Given the description of an element on the screen output the (x, y) to click on. 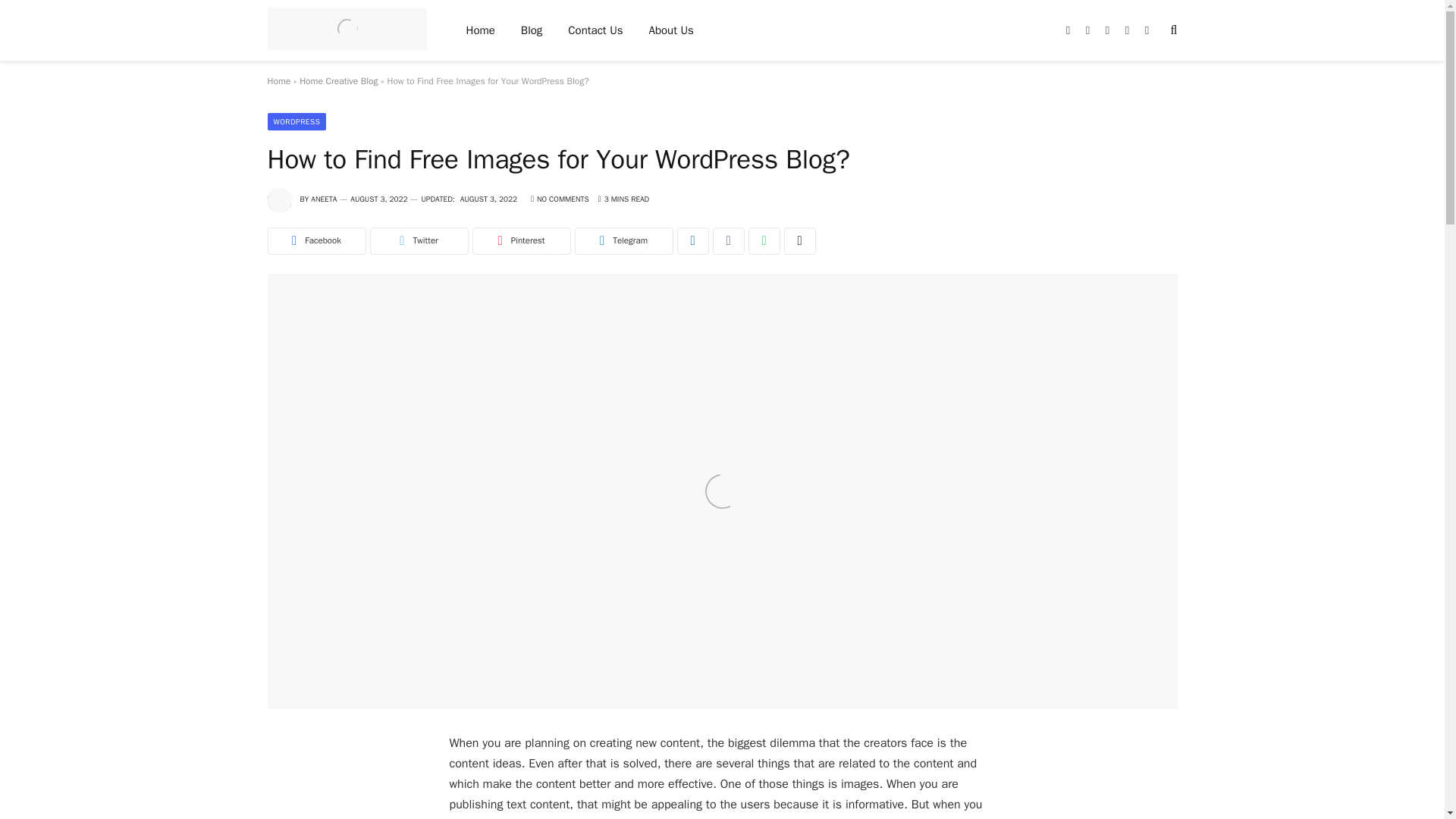
About Us (671, 30)
Home (277, 80)
Share on Pinterest (520, 240)
Posts by Aneeta (323, 198)
WeblyWord (346, 30)
Twitter (418, 240)
NO COMMENTS (560, 198)
WORDPRESS (296, 121)
Home (480, 30)
Facebook (315, 240)
